Given the description of an element on the screen output the (x, y) to click on. 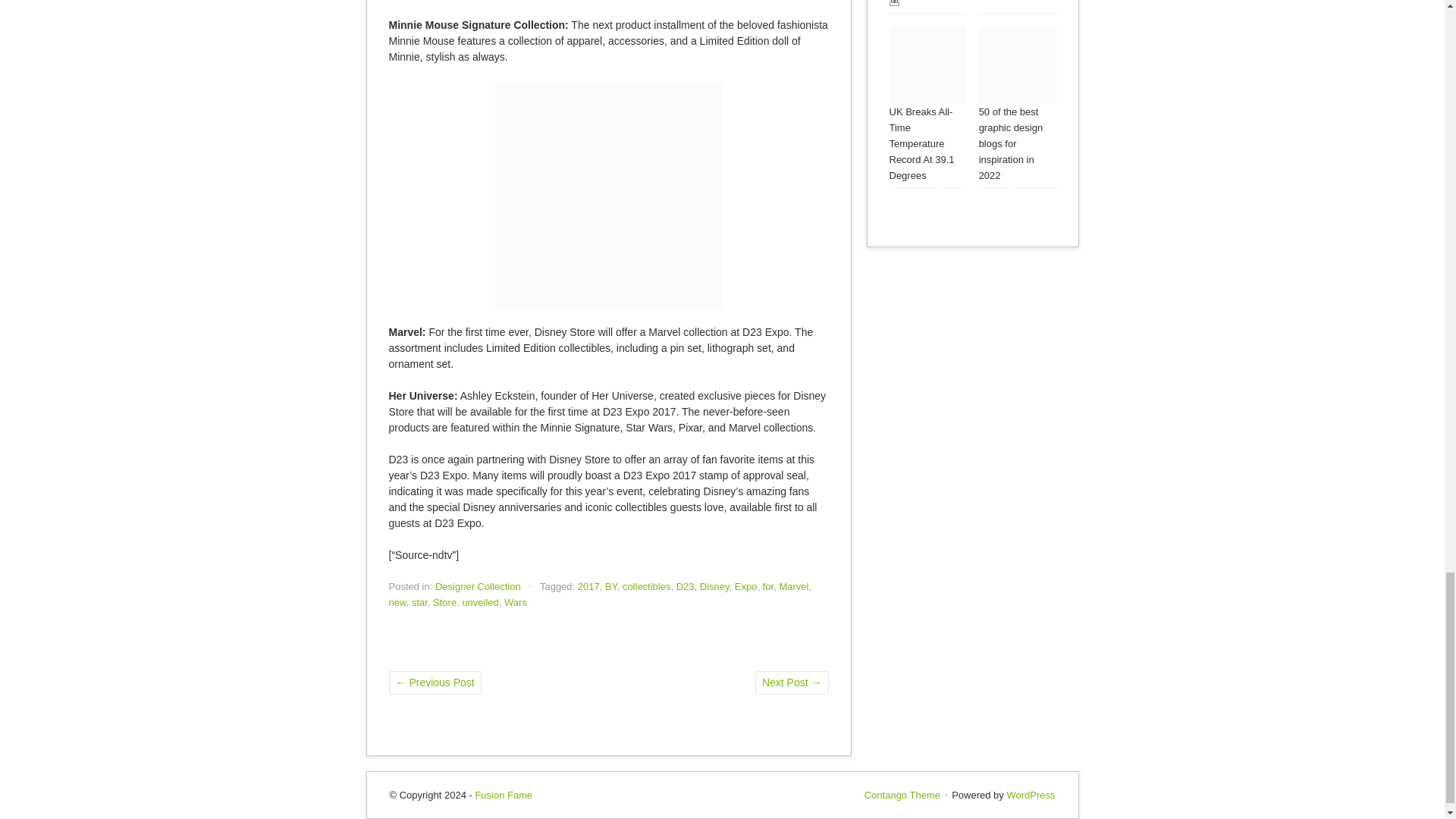
D23 (685, 586)
collectibles (647, 586)
2017 (588, 586)
Disney (714, 586)
for (767, 586)
Contango Theme (902, 794)
Expo (746, 586)
star (420, 602)
BY (611, 586)
Marvel (793, 586)
Store (444, 602)
WordPress (1030, 794)
Wars (515, 602)
unveiled (479, 602)
Designer Collection (478, 586)
